Given the description of an element on the screen output the (x, y) to click on. 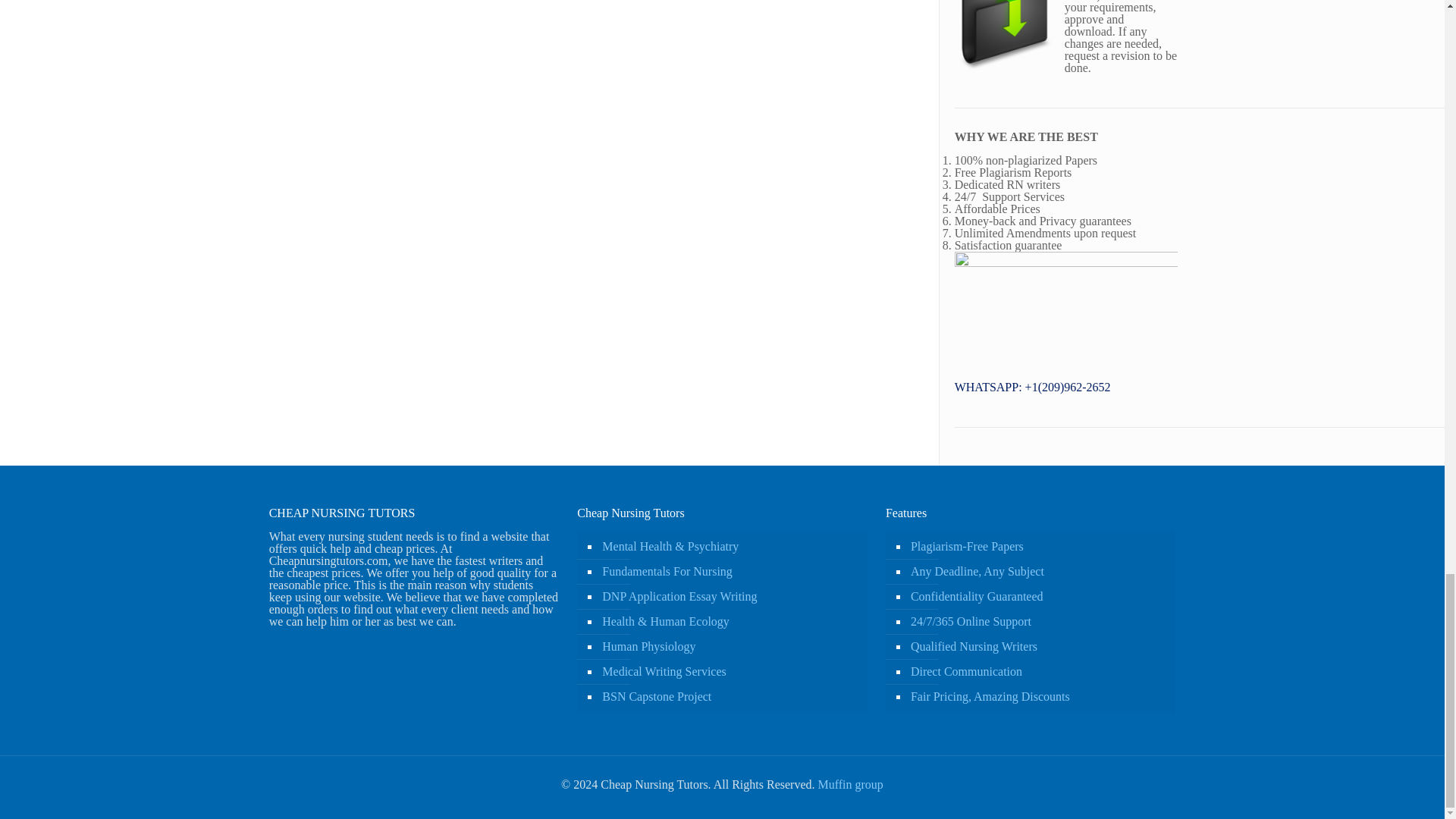
Fundamentals For Nursing (729, 571)
Qualified Nursing Writers (1037, 647)
DNP Application Essay Writing (729, 596)
Muffin group (849, 784)
Human Physiology (729, 647)
Any Deadline, Any Subject (1037, 571)
Fair Pricing, Amazing Discounts (1037, 697)
Medical Writing Services (729, 672)
Confidentiality Guaranteed (1037, 596)
Plagiarism-Free Papers (1037, 546)
